Given the description of an element on the screen output the (x, y) to click on. 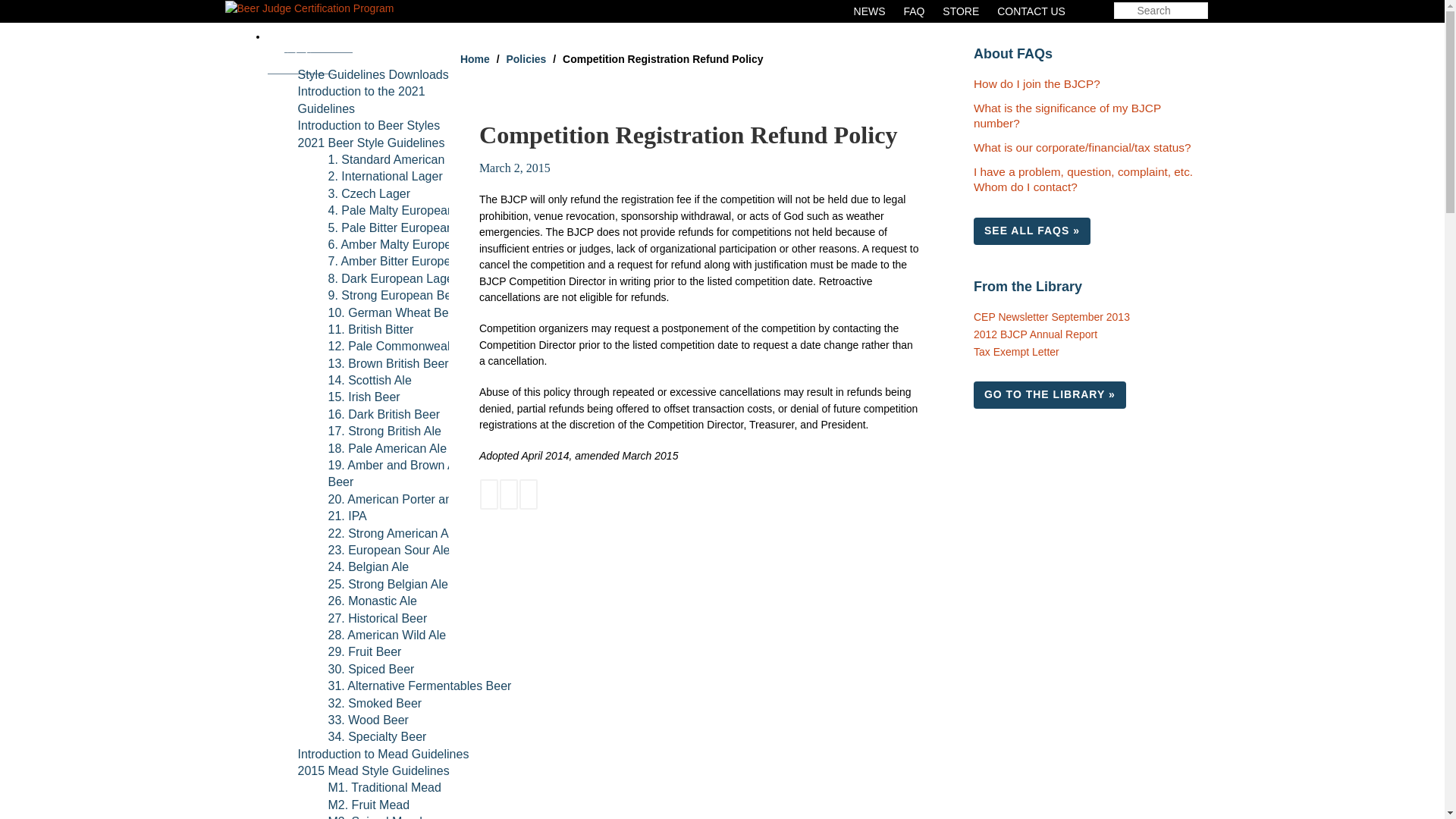
Style Guidelines Downloads (372, 74)
FAQ (913, 10)
2. International Lager (384, 176)
CONTACT US (1031, 10)
7. Amber Bitter European Beer (410, 261)
Introduction to the 2021 Guidelines (361, 99)
19. Amber and Brown American Beer (412, 473)
12. Pale Commonwealth Beer (408, 346)
17. Strong British Ale (384, 431)
13. Brown British Beer (387, 363)
